Given the description of an element on the screen output the (x, y) to click on. 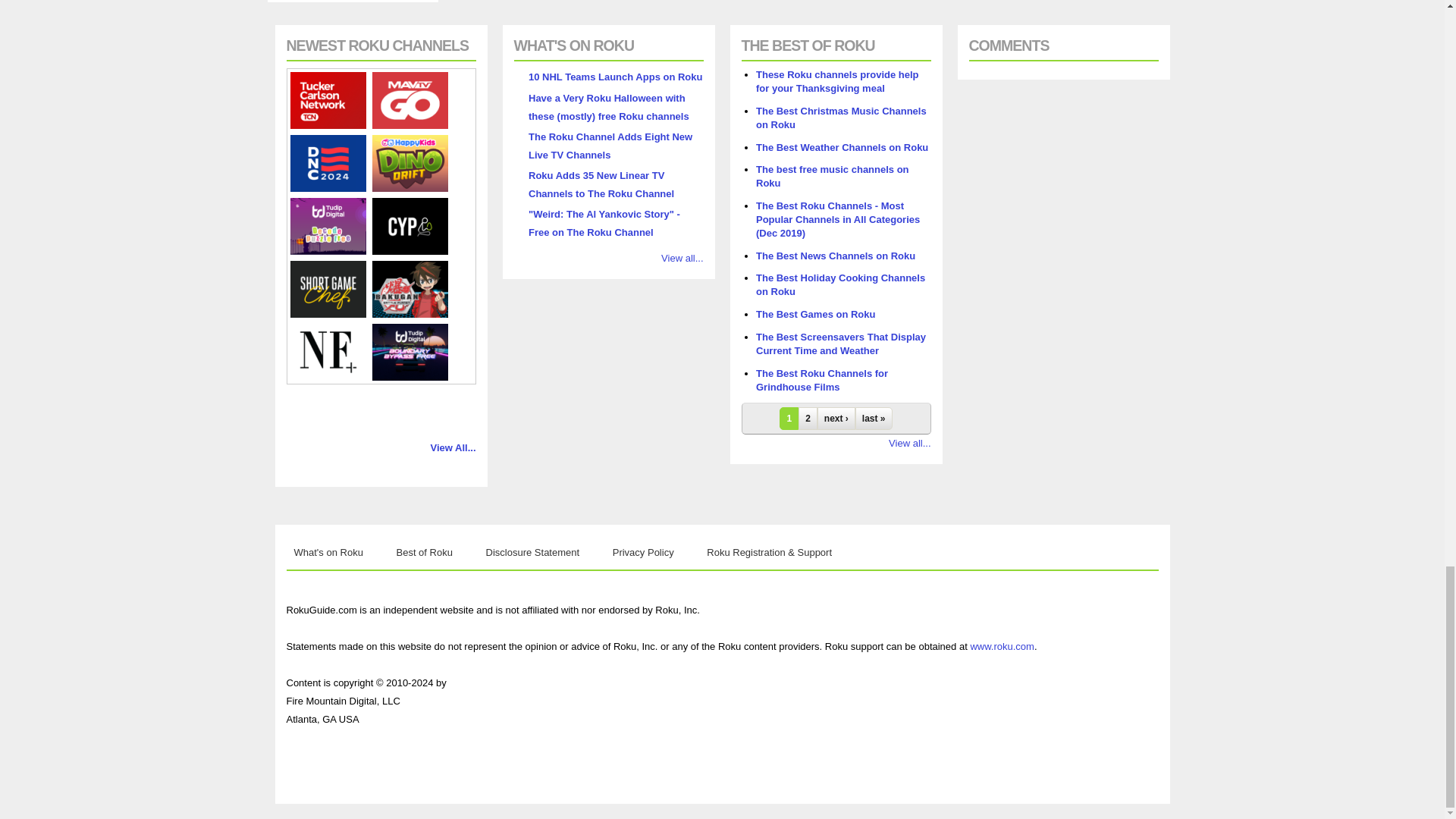
Privacy Policy (643, 552)
View All... (453, 447)
New and Awesome Content on Roku Channels (328, 552)
Go to last page (874, 418)
Best of Roku (424, 552)
Disclosure Statement (533, 552)
Go to next page (836, 418)
